Given the description of an element on the screen output the (x, y) to click on. 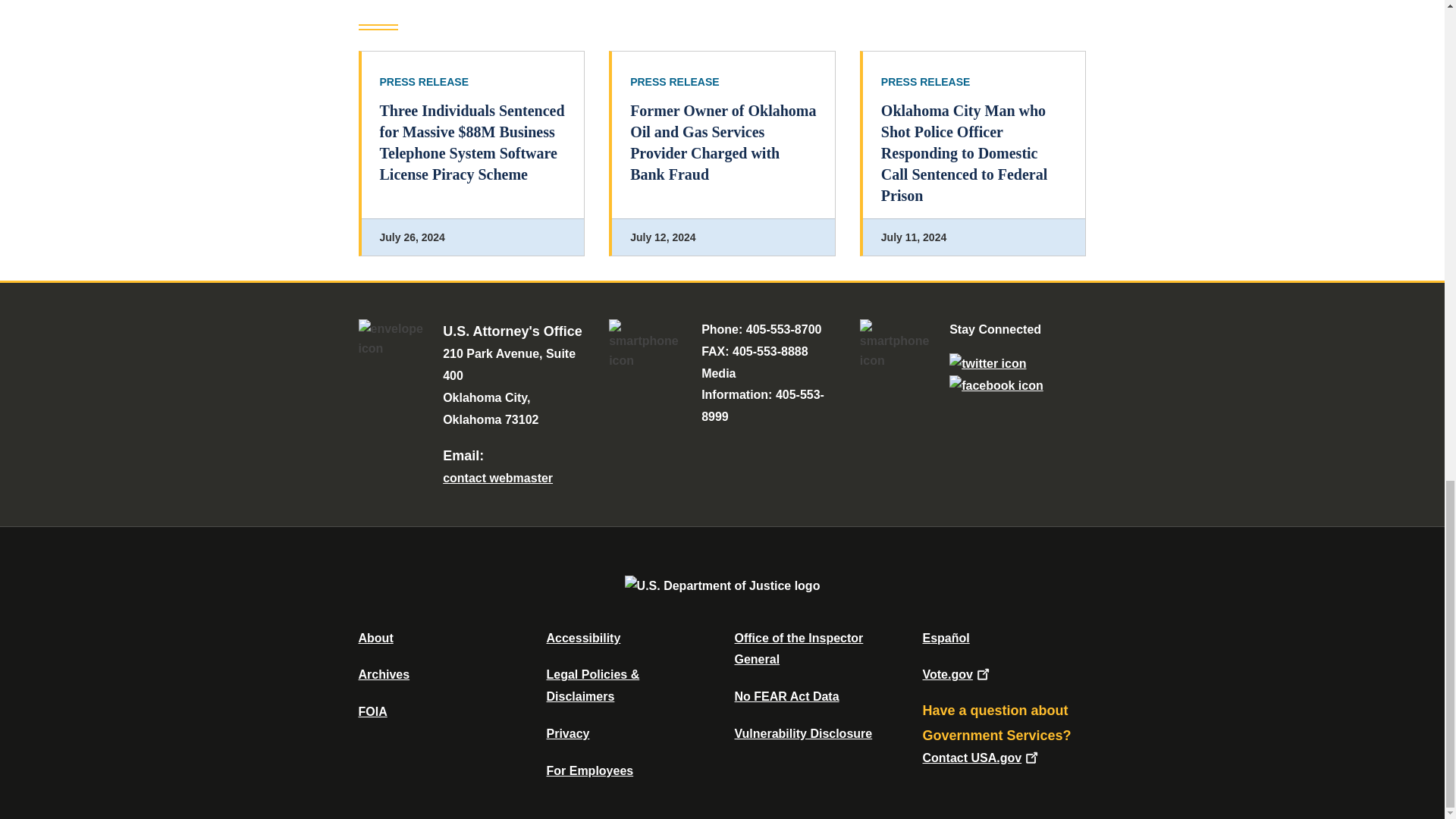
Department of Justice Archive (383, 674)
About DOJ (375, 637)
Data Posted Pursuant To The No Fear Act (785, 696)
For Employees (589, 770)
Office of Information Policy (372, 711)
Accessibility Statement (583, 637)
Legal Policies and Disclaimers (592, 685)
